Given the description of an element on the screen output the (x, y) to click on. 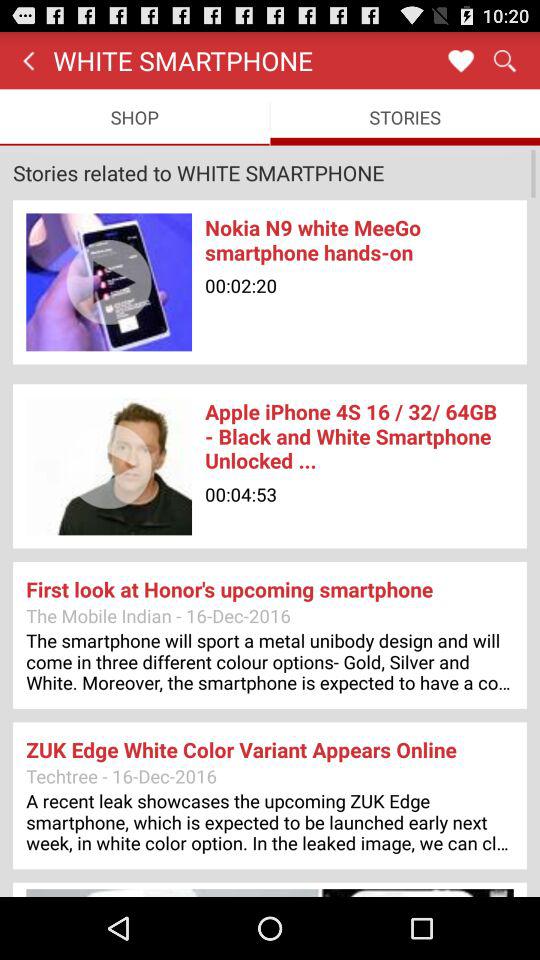
click icon to the left of stories item (134, 116)
